Given the description of an element on the screen output the (x, y) to click on. 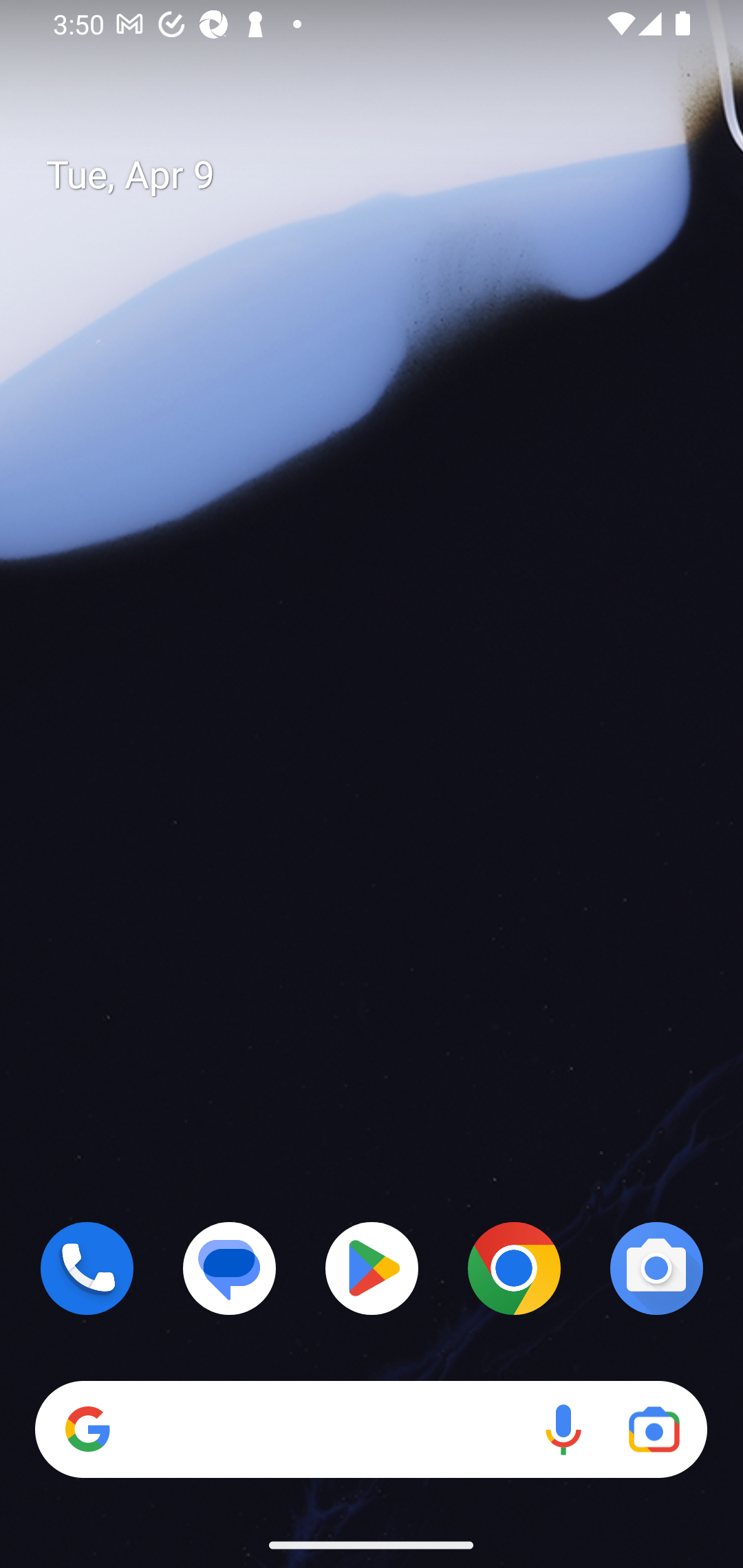
Tue, Apr 9 (386, 175)
Phone (86, 1268)
Messages (229, 1268)
Play Store (371, 1268)
Chrome (513, 1268)
Camera (656, 1268)
Search Voice search Google Lens (370, 1429)
Voice search (562, 1429)
Google Lens (653, 1429)
